Given the description of an element on the screen output the (x, y) to click on. 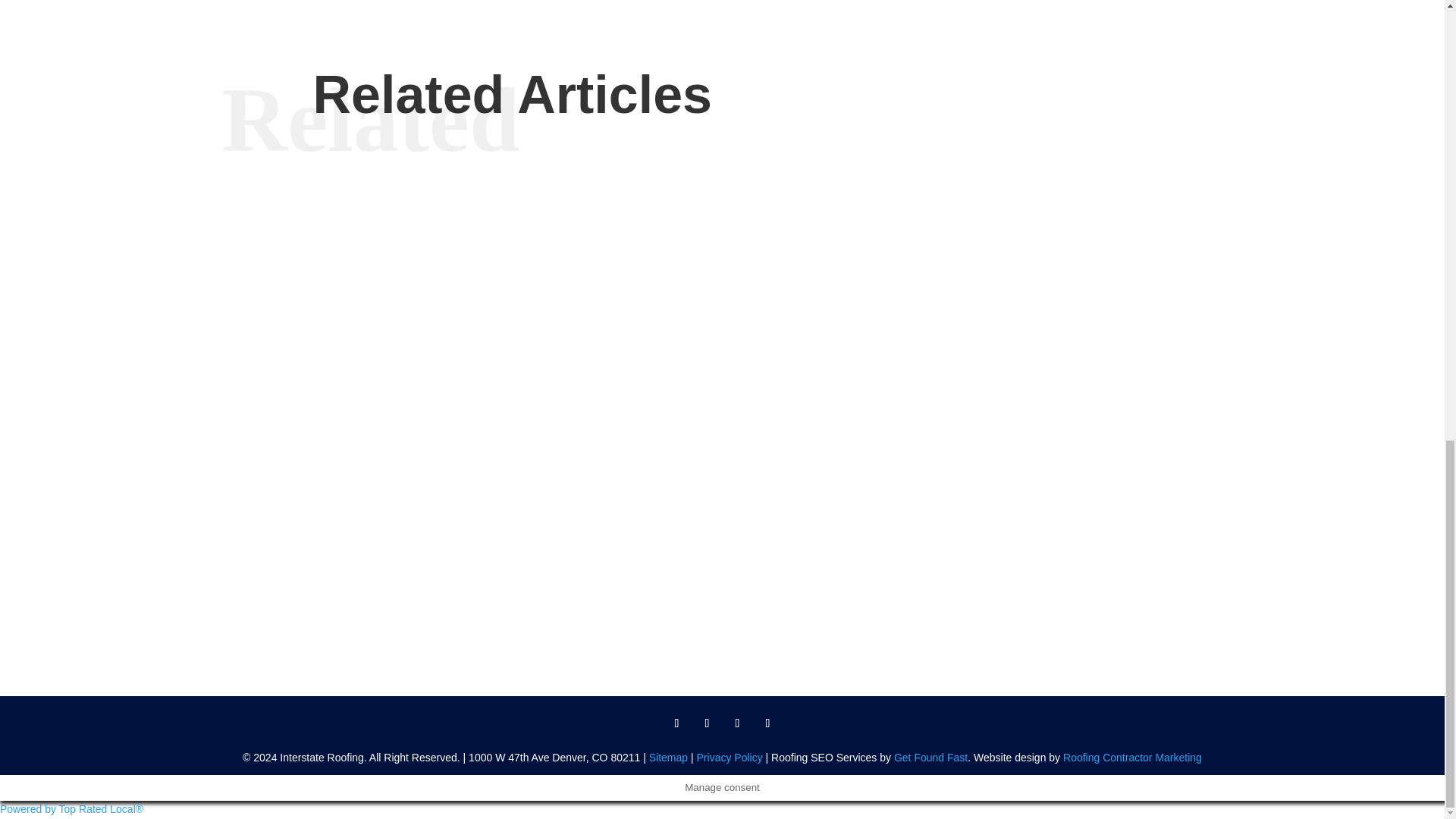
Follow on Facebook (675, 723)
Follow on Instagram (766, 723)
Follow on Google (737, 723)
Follow on X (706, 723)
